Given the description of an element on the screen output the (x, y) to click on. 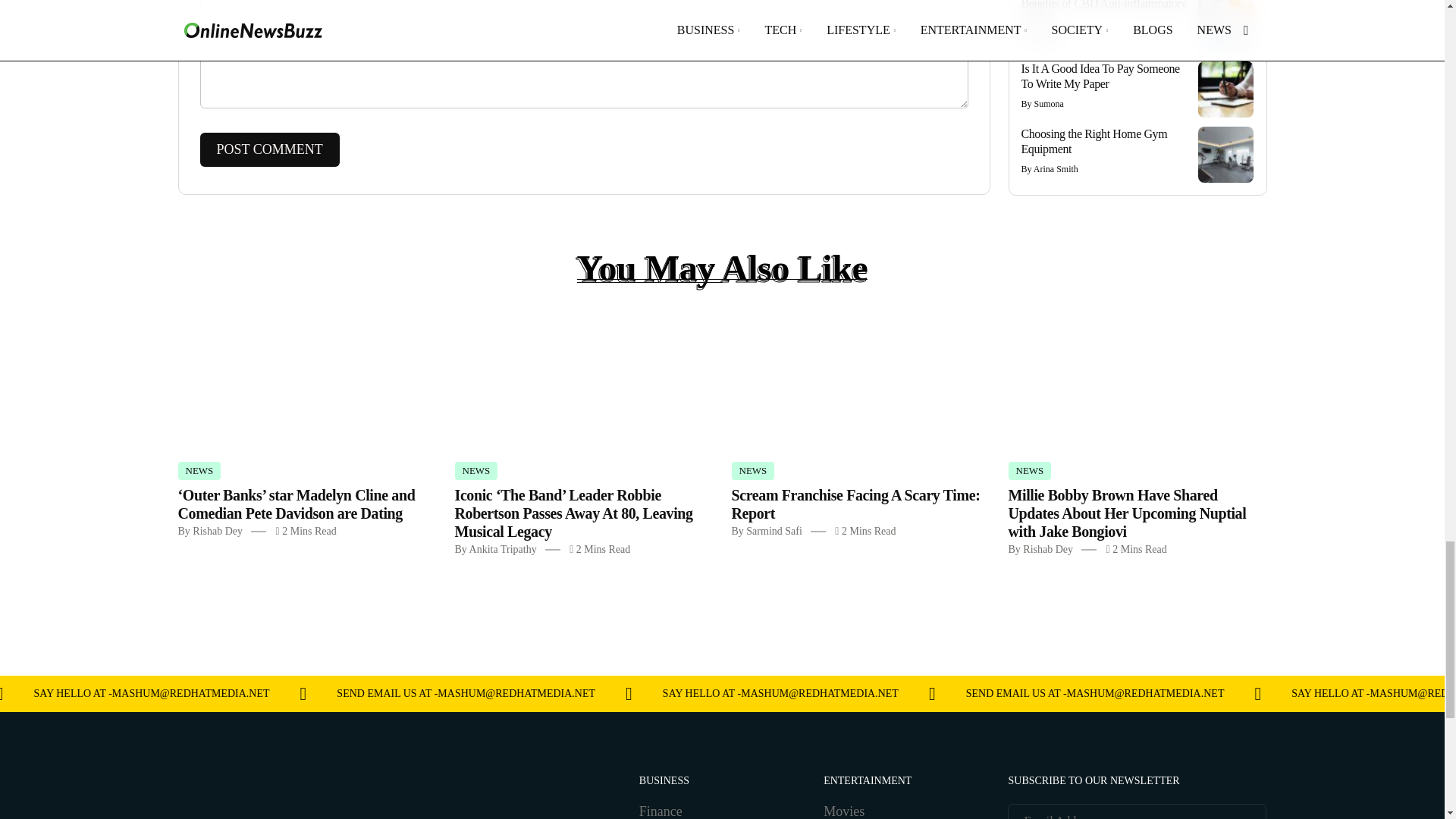
News (199, 470)
News (1030, 470)
News (752, 470)
News (475, 470)
Post Comment (269, 149)
